Given the description of an element on the screen output the (x, y) to click on. 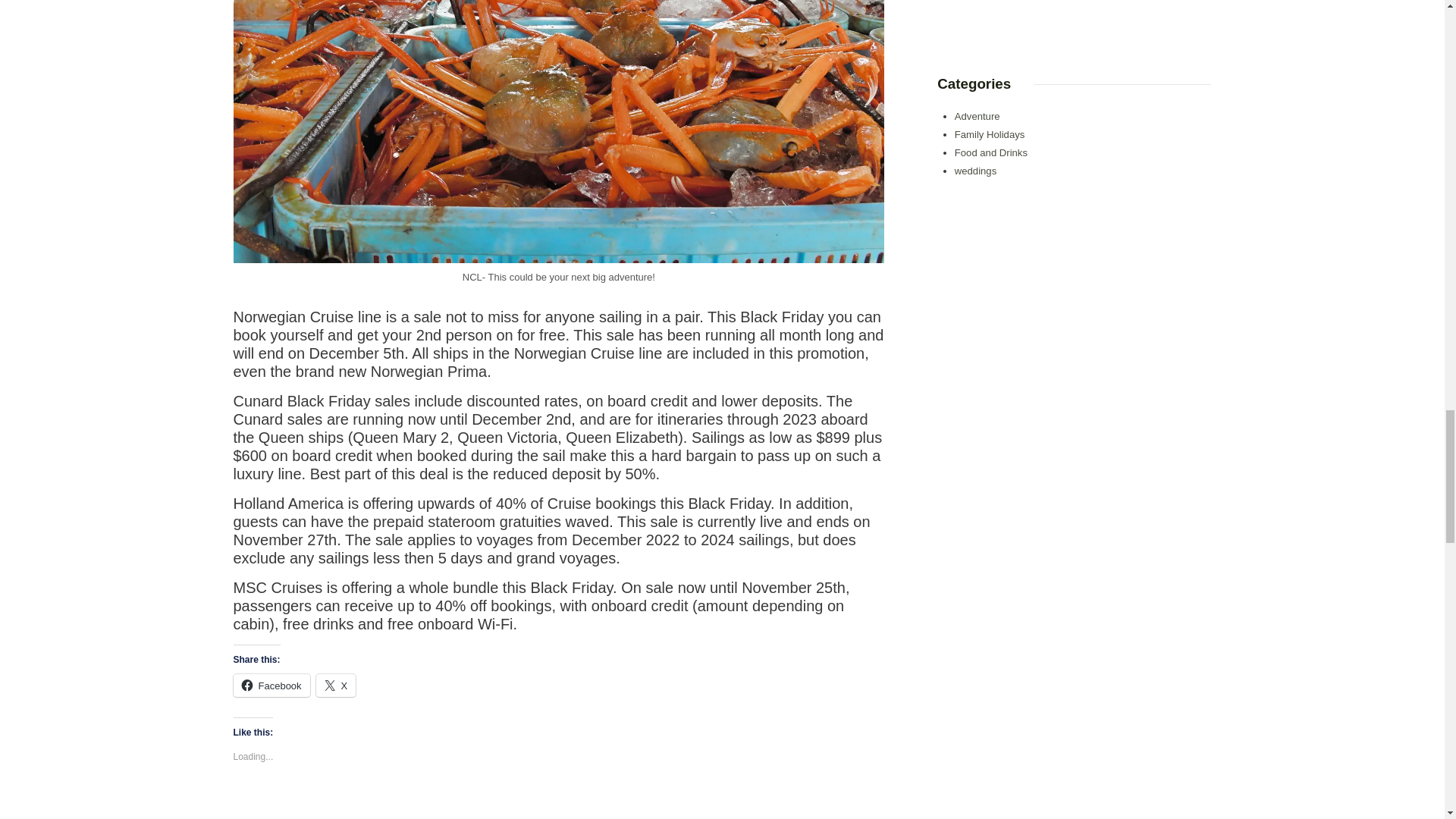
Facebook (271, 685)
Click to share on Facebook (271, 685)
Click to share on X (335, 685)
X (335, 685)
